Given the description of an element on the screen output the (x, y) to click on. 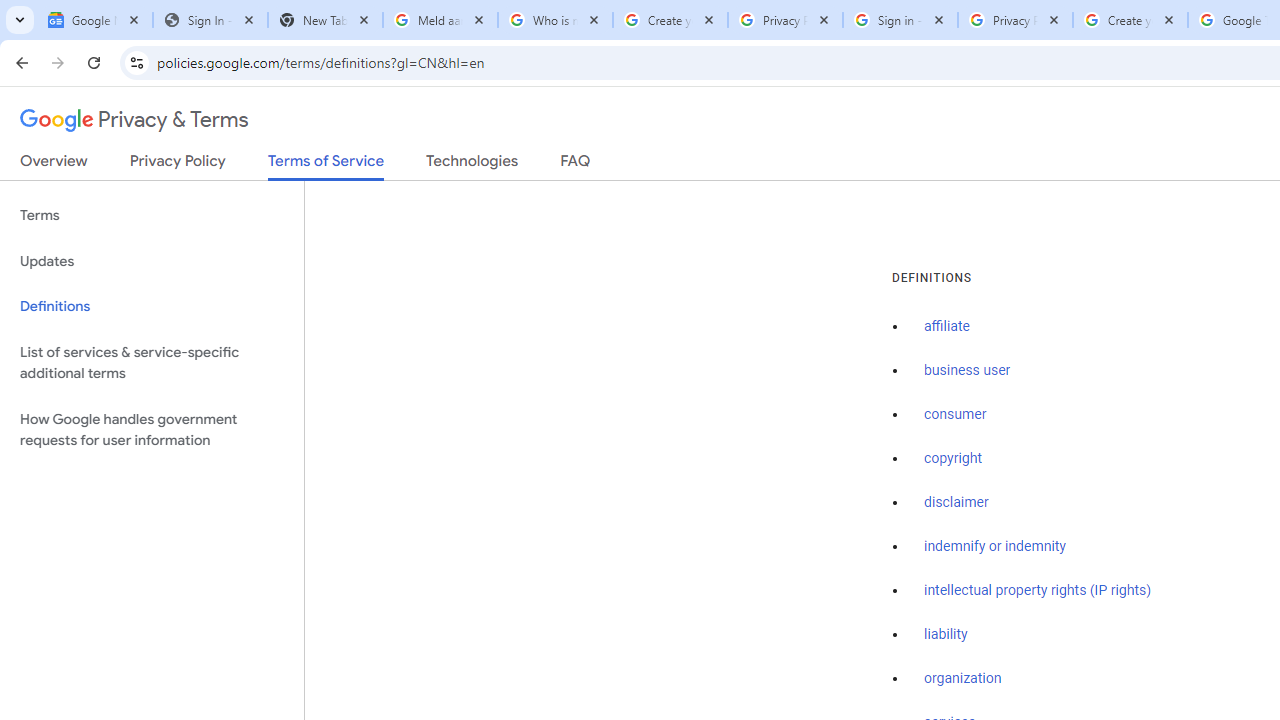
Google News (95, 20)
Sign In - USA TODAY (209, 20)
Sign in - Google Accounts (900, 20)
organization (963, 679)
affiliate (947, 327)
disclaimer (956, 502)
intellectual property rights (IP rights) (1038, 590)
New Tab (324, 20)
indemnify or indemnity (995, 546)
